Given the description of an element on the screen output the (x, y) to click on. 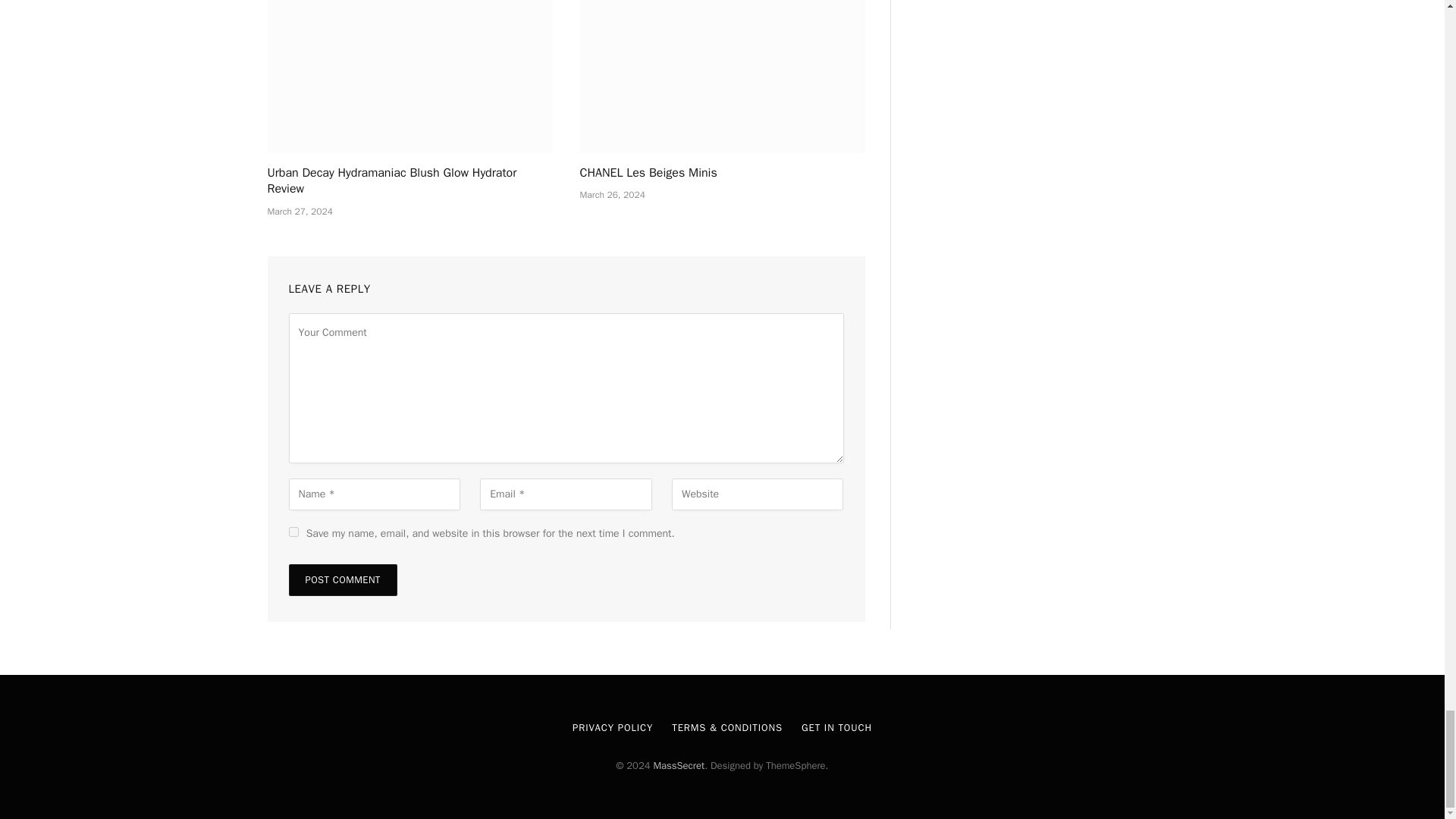
Post Comment (342, 580)
yes (293, 532)
